Given the description of an element on the screen output the (x, y) to click on. 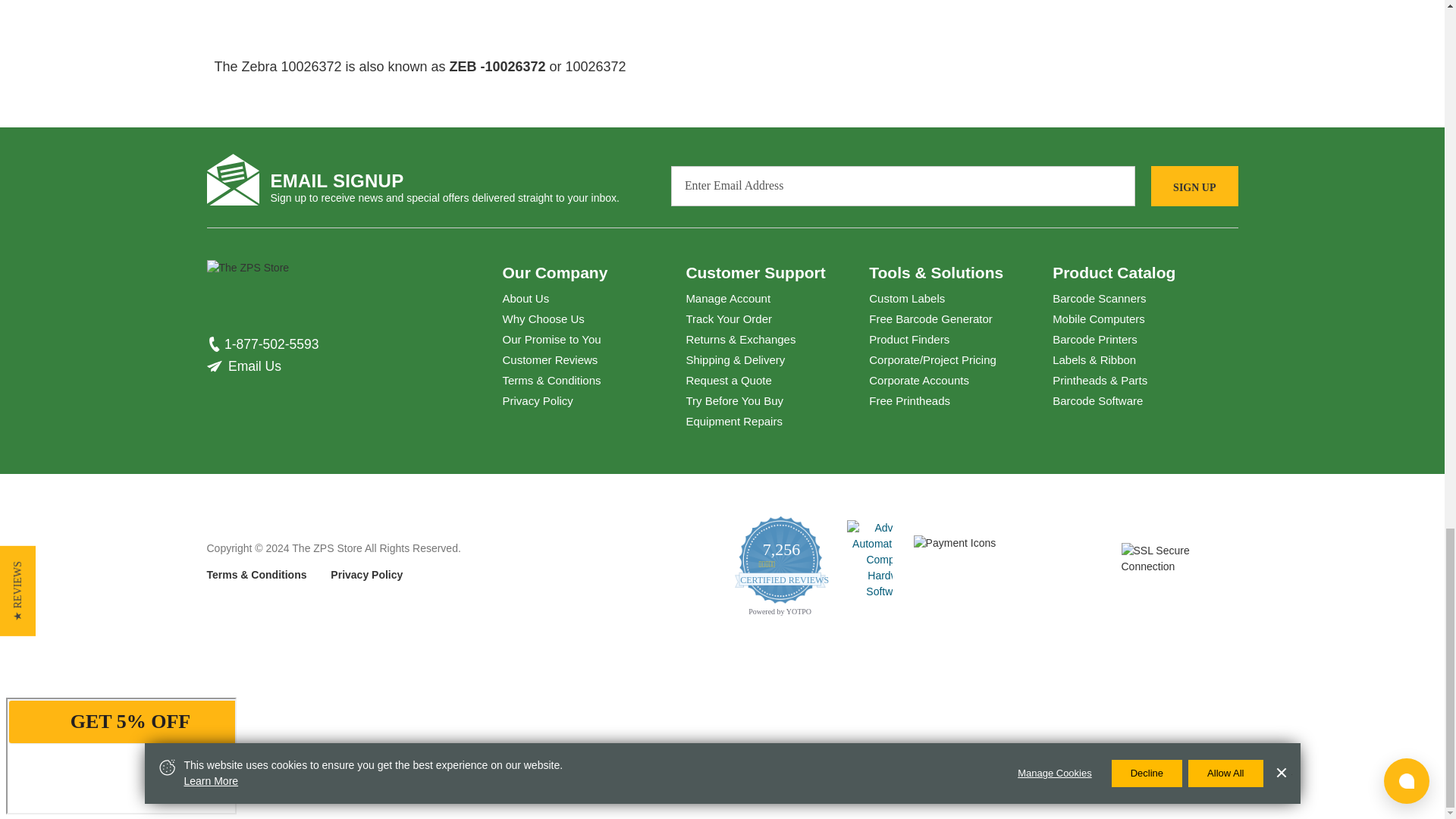
Sign Up (1194, 186)
